Given the description of an element on the screen output the (x, y) to click on. 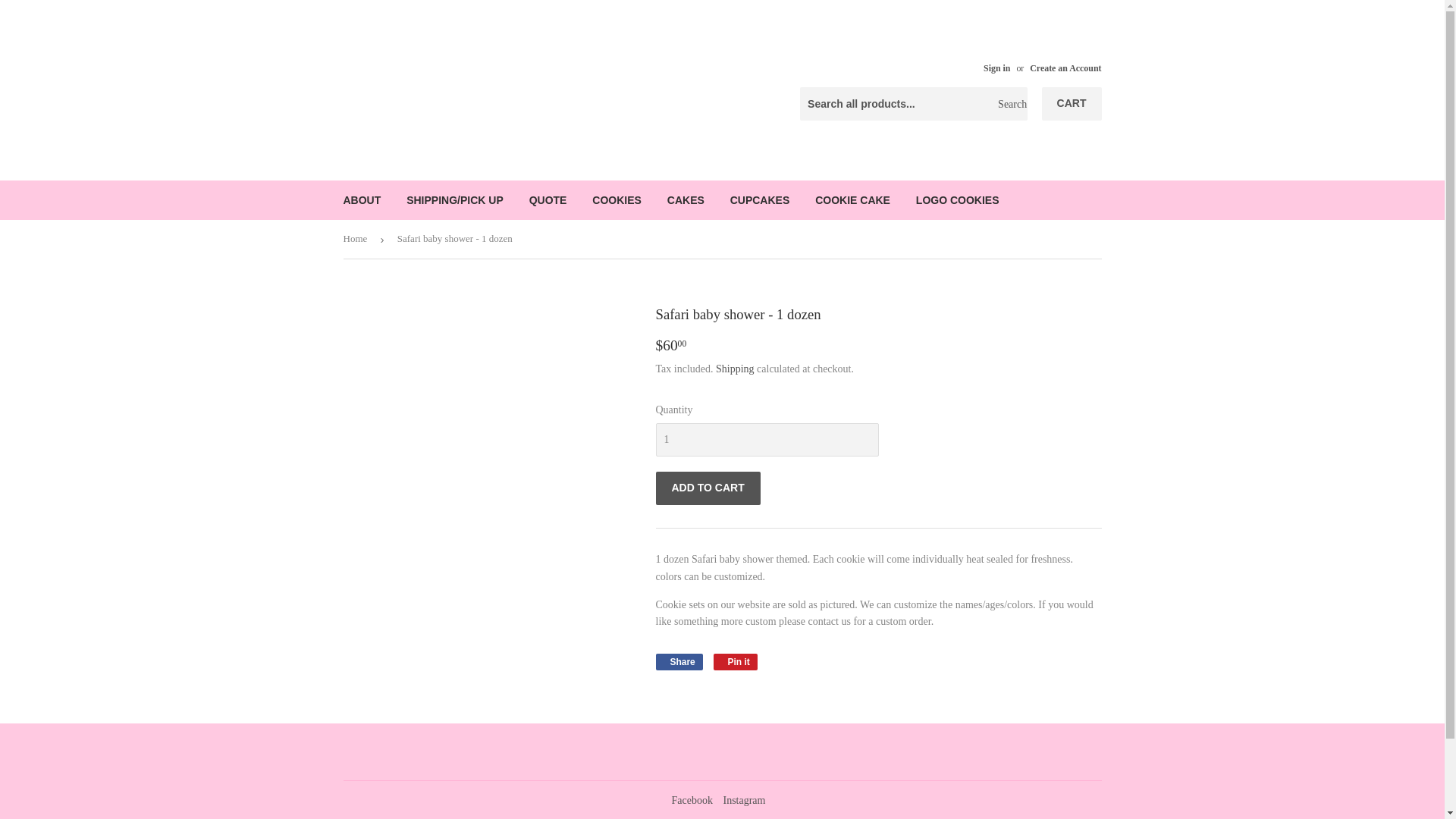
Search (1009, 104)
CART (1072, 103)
Share on Facebook (678, 661)
casebakes cookies on Facebook (692, 799)
Create an Account (1064, 68)
Pin on Pinterest (735, 661)
Back to the frontpage (357, 239)
Sign in (997, 68)
casebakes cookies on Instagram (743, 799)
1 (766, 439)
